Given the description of an element on the screen output the (x, y) to click on. 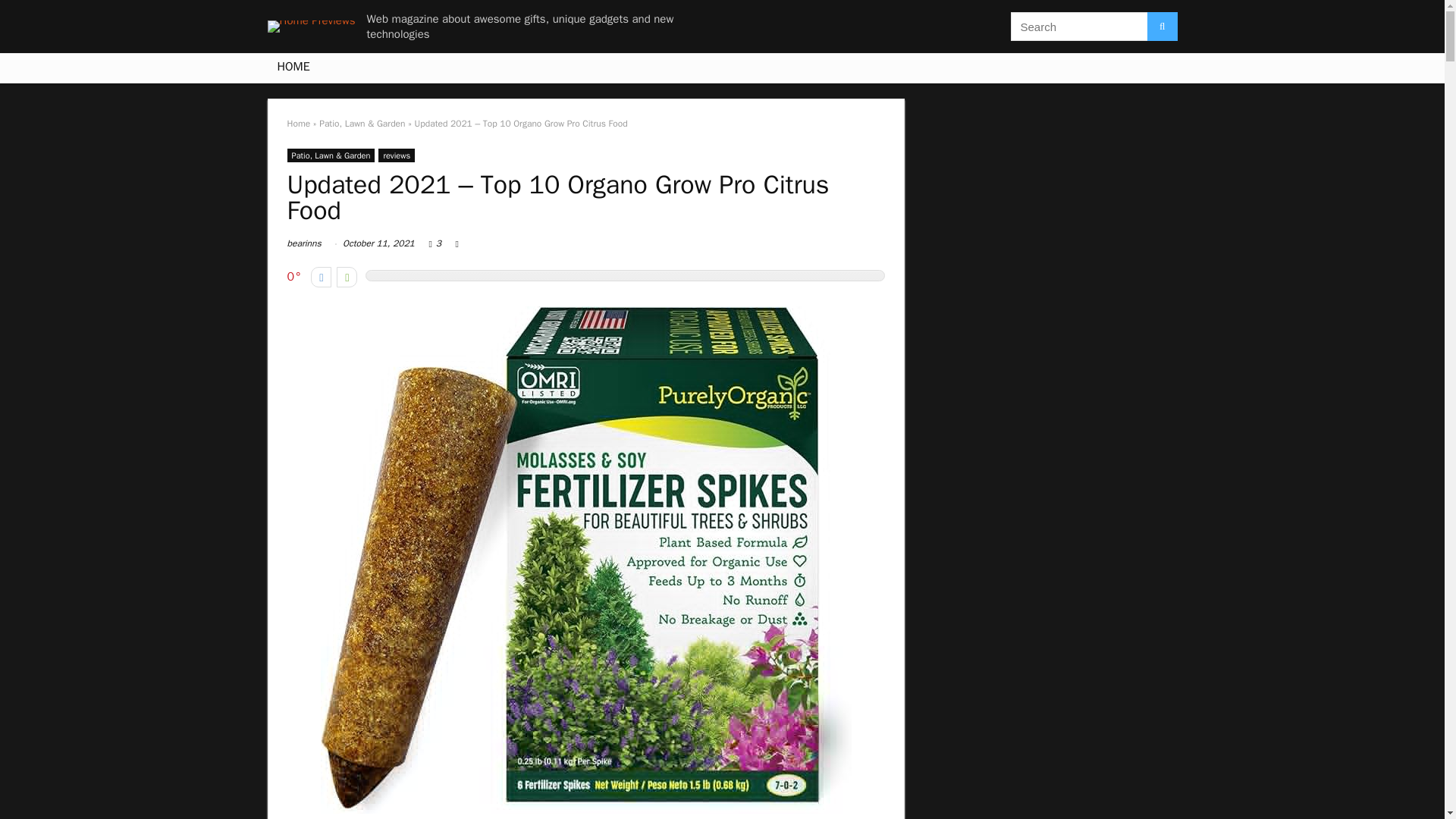
Vote up (346, 276)
View all posts in reviews (396, 155)
Vote down (321, 276)
reviews (396, 155)
HOME (292, 68)
bearinns (303, 243)
Home (298, 123)
